Given the description of an element on the screen output the (x, y) to click on. 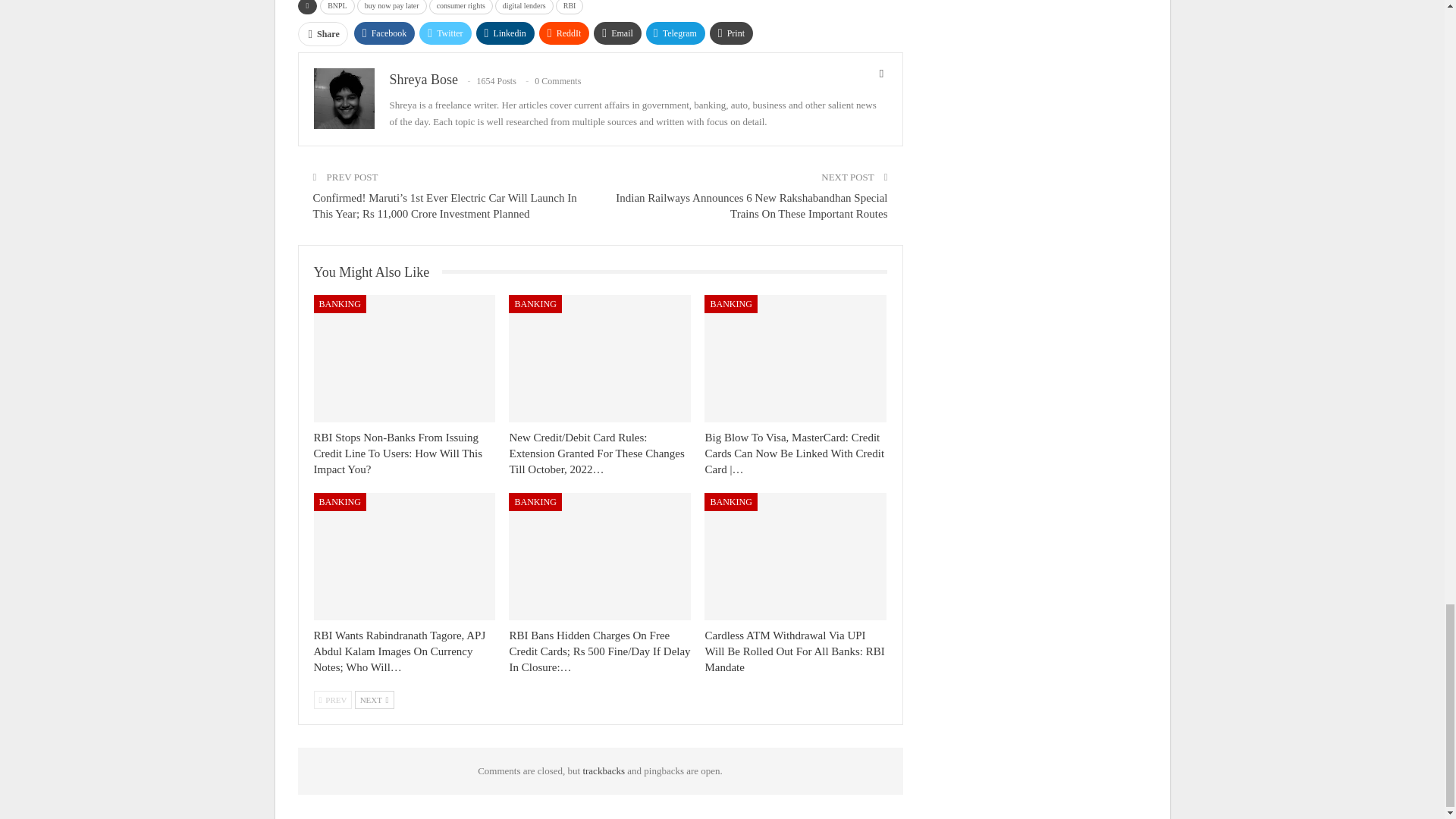
Facebook (383, 33)
BNPL (337, 7)
consumer rights (461, 7)
RBI (569, 7)
digital lenders (524, 7)
buy now pay later (391, 7)
